Given the description of an element on the screen output the (x, y) to click on. 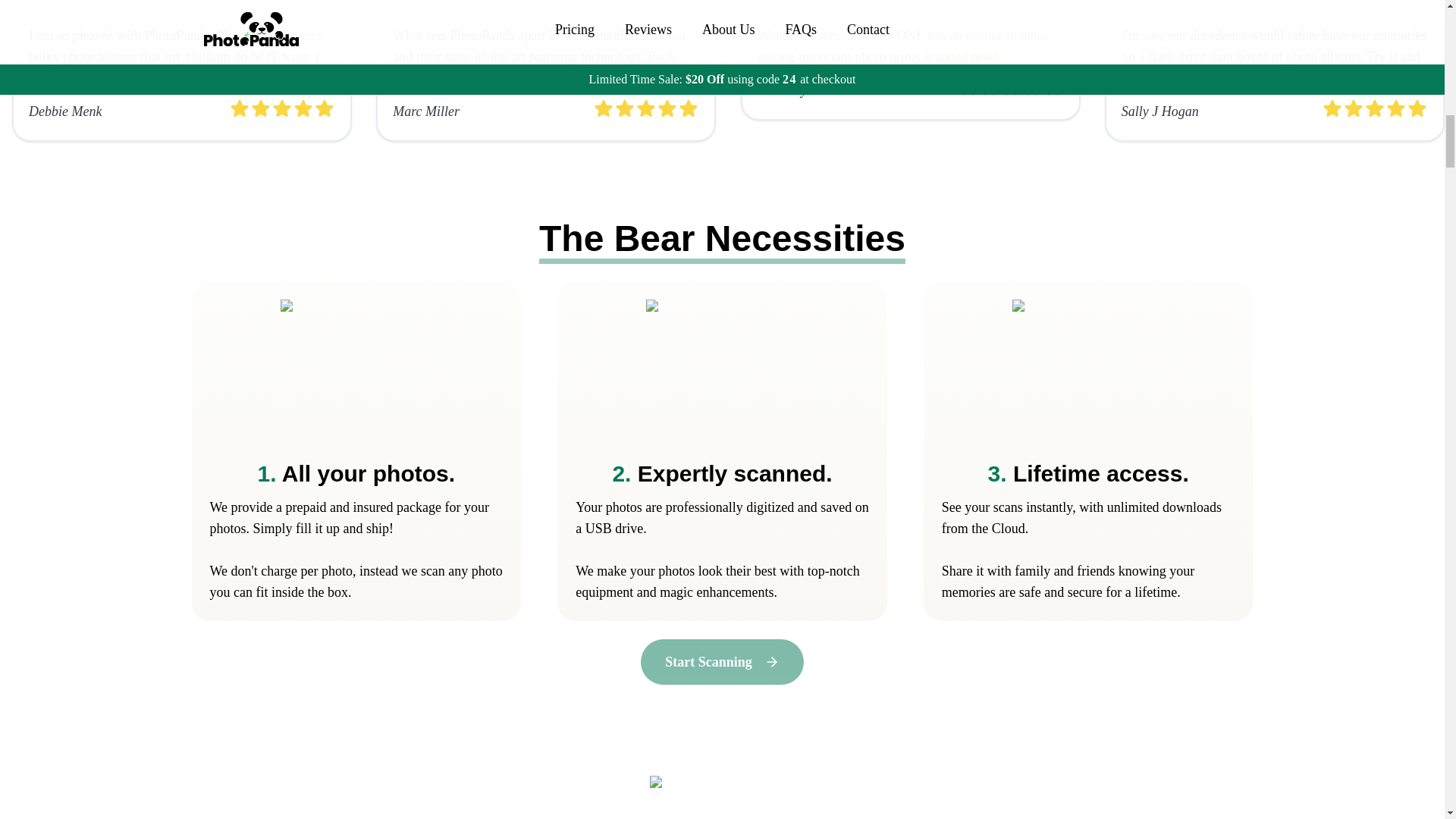
Start Scanning (721, 661)
